Given the description of an element on the screen output the (x, y) to click on. 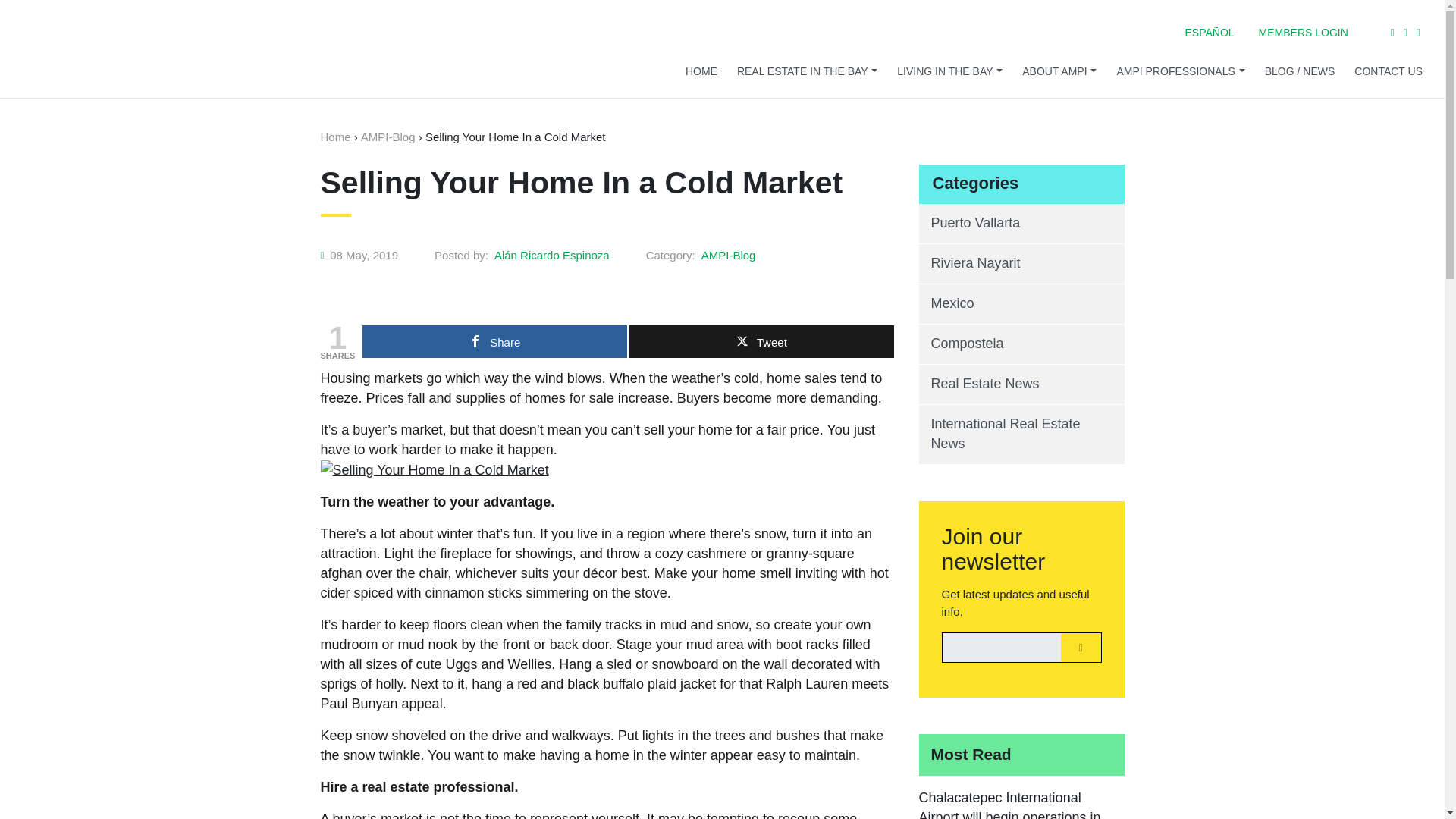
MEMBERS LOGIN (1303, 32)
LIVING IN THE BAY (949, 70)
AMPI-Blog (728, 254)
CONTACT US (1388, 70)
AMPI PROFESSIONALS (1179, 70)
HOME (700, 70)
Share (494, 340)
ABOUT AMPI (1059, 70)
AMPI-Blog (387, 137)
REAL ESTATE IN THE BAY (807, 70)
